Given the description of an element on the screen output the (x, y) to click on. 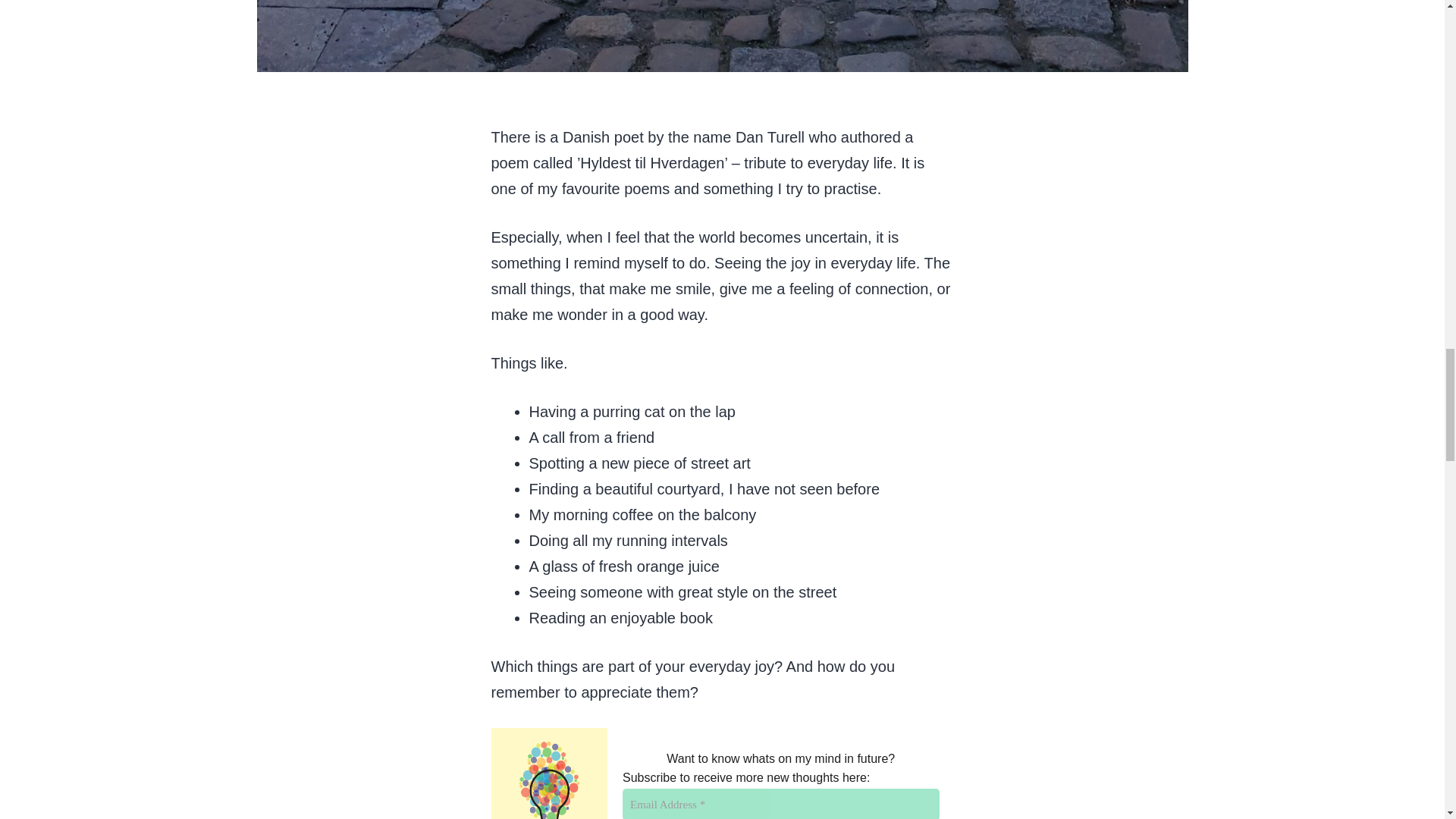
Email Address (780, 803)
